Given the description of an element on the screen output the (x, y) to click on. 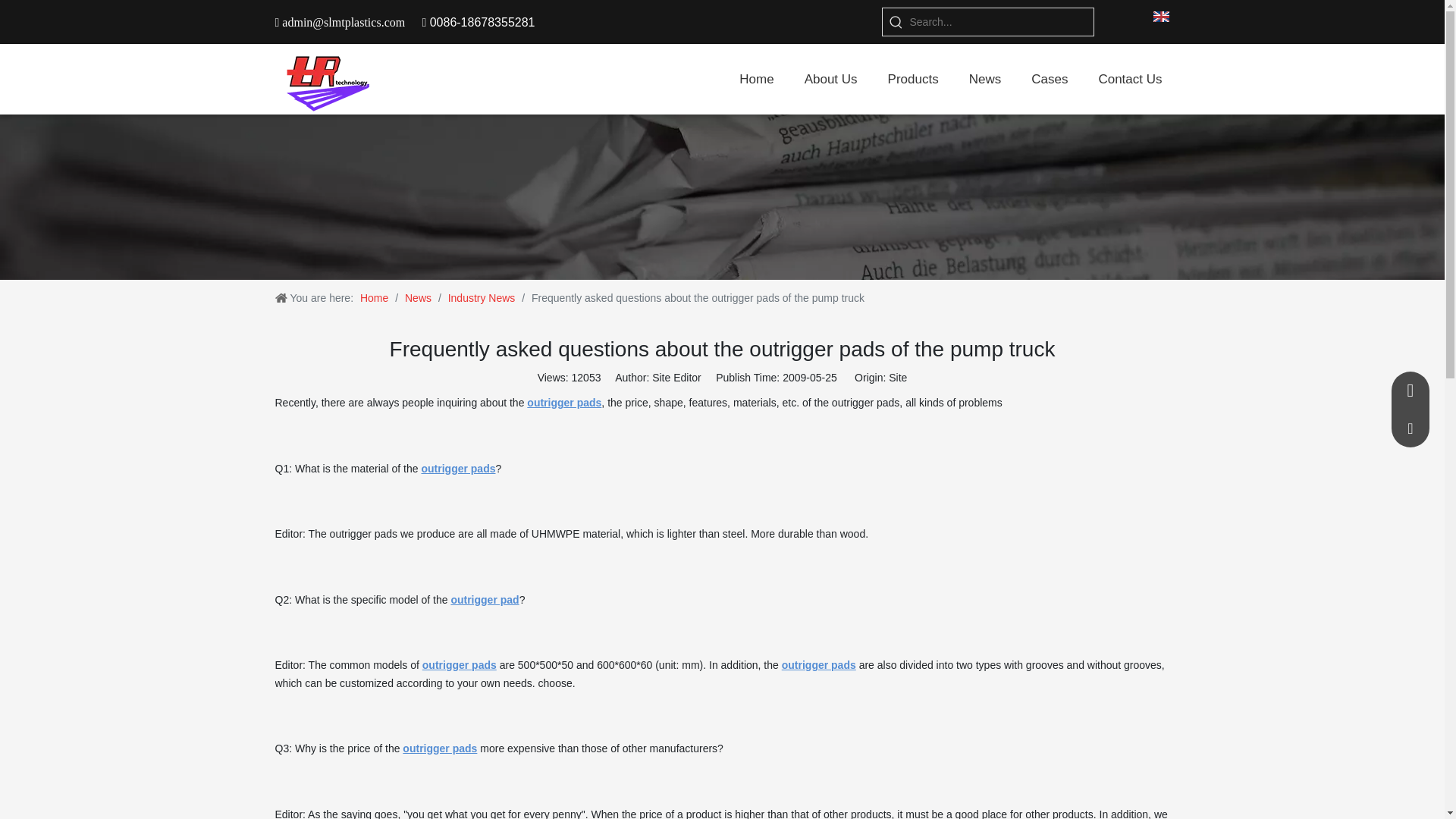
About Us (830, 79)
Cases (1049, 79)
Home (756, 79)
Products (912, 79)
Shandong Langrui Machinery Technology Co.,Ltd. (326, 81)
Contact Us (1129, 79)
News (984, 79)
